Given the description of an element on the screen output the (x, y) to click on. 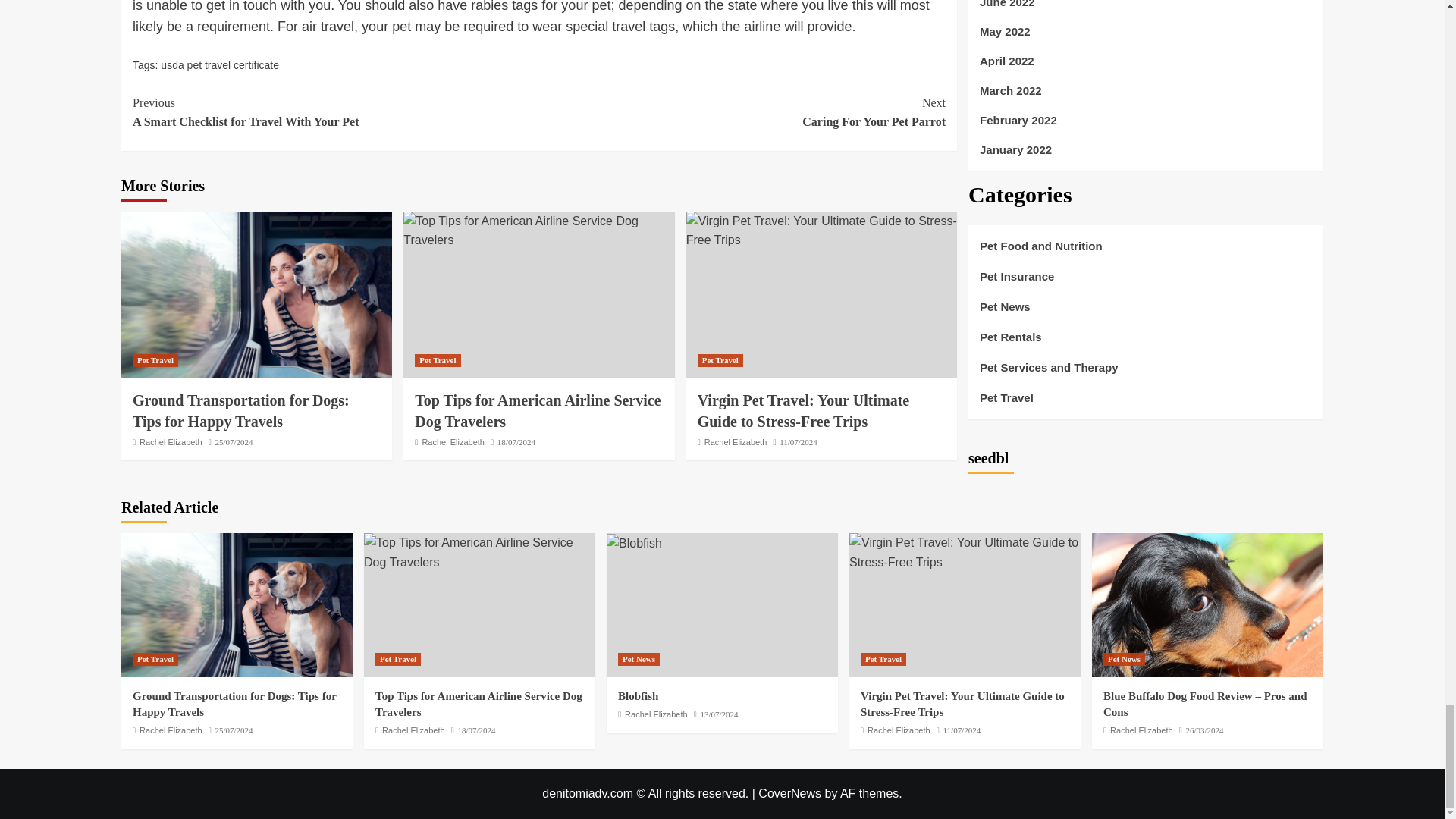
Rachel Elizabeth (453, 441)
Ground Transportation for Dogs: Tips for Happy Travels (236, 605)
Pet Travel (437, 359)
Rachel Elizabeth (735, 441)
Virgin Pet Travel: Your Ultimate Guide to Stress-Free Trips (820, 230)
Blobfish (634, 543)
Ground Transportation for Dogs: Tips for Happy Travels (255, 294)
Ground Transportation for Dogs: Tips for Happy Travels (240, 410)
Virgin Pet Travel: Your Ultimate Guide to Stress-Free Trips (964, 552)
Virgin Pet Travel: Your Ultimate Guide to Stress-Free Trips (803, 410)
Top Tips for American Airline Service Dog Travelers (479, 552)
Top Tips for American Airline Service Dog Travelers (335, 112)
Rachel Elizabeth (537, 410)
Top Tips for American Airline Service Dog Travelers (170, 441)
